Given the description of an element on the screen output the (x, y) to click on. 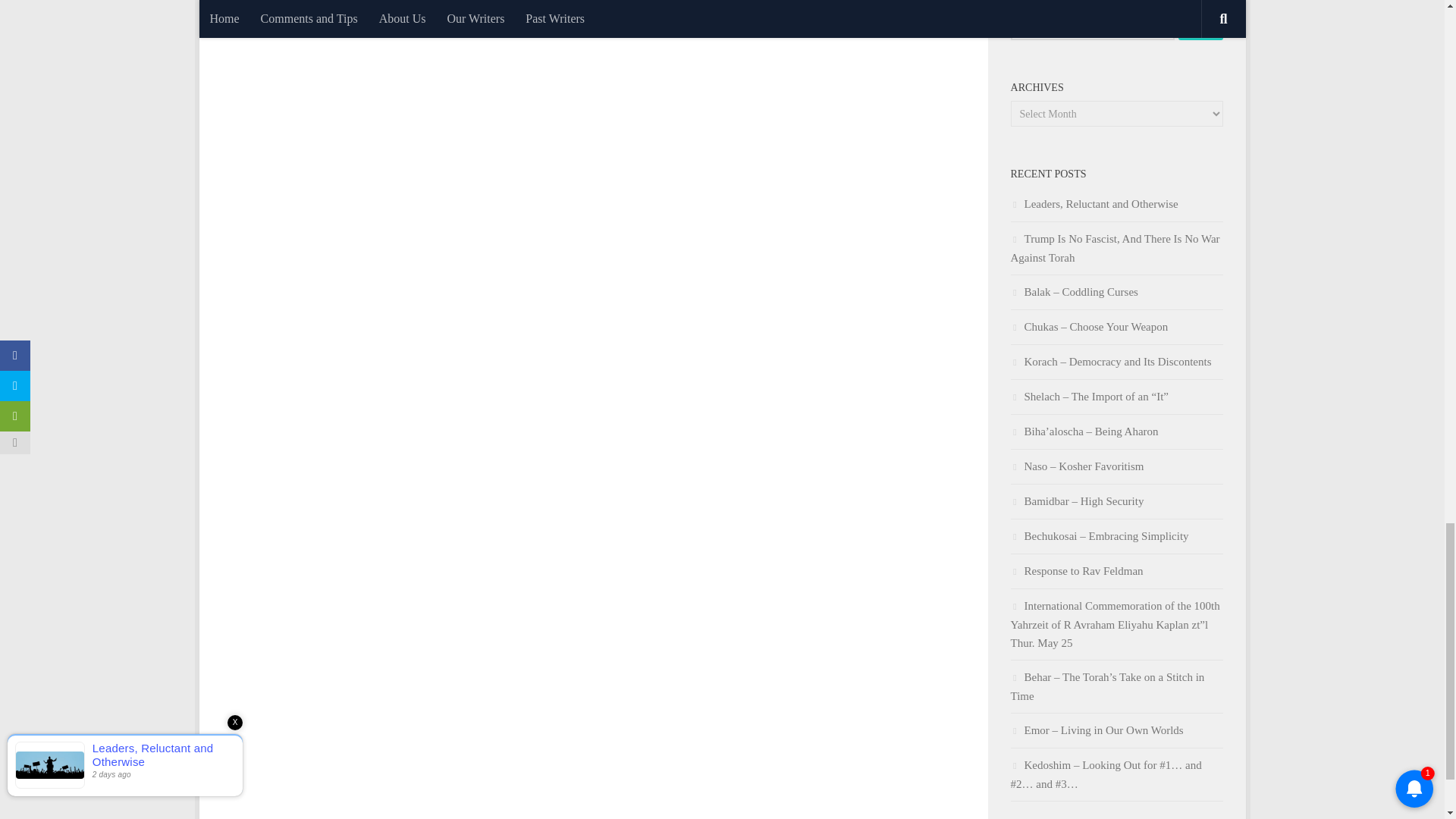
Search (1200, 25)
Search (1200, 25)
